Given the description of an element on the screen output the (x, y) to click on. 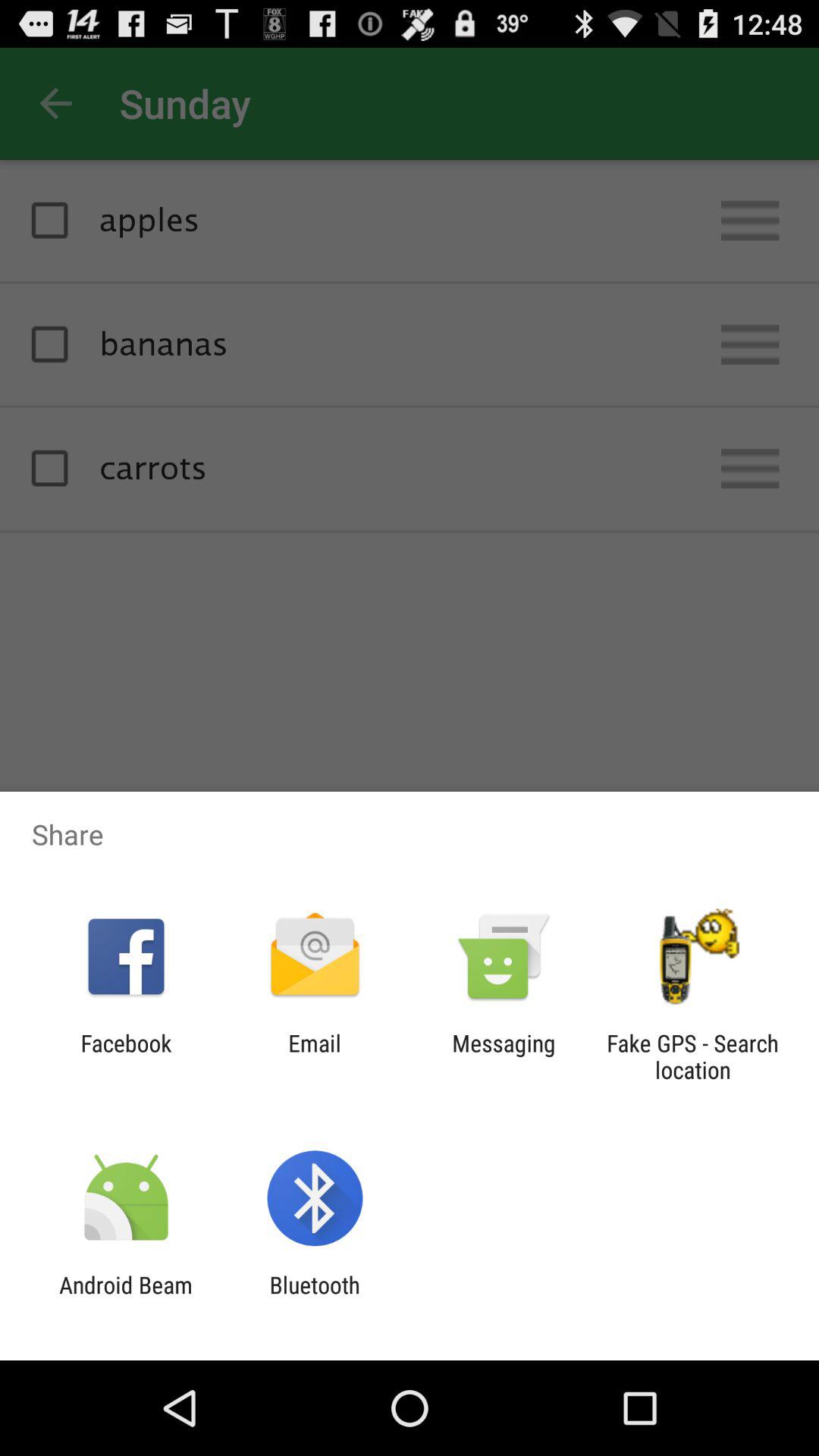
swipe until bluetooth app (314, 1298)
